Given the description of an element on the screen output the (x, y) to click on. 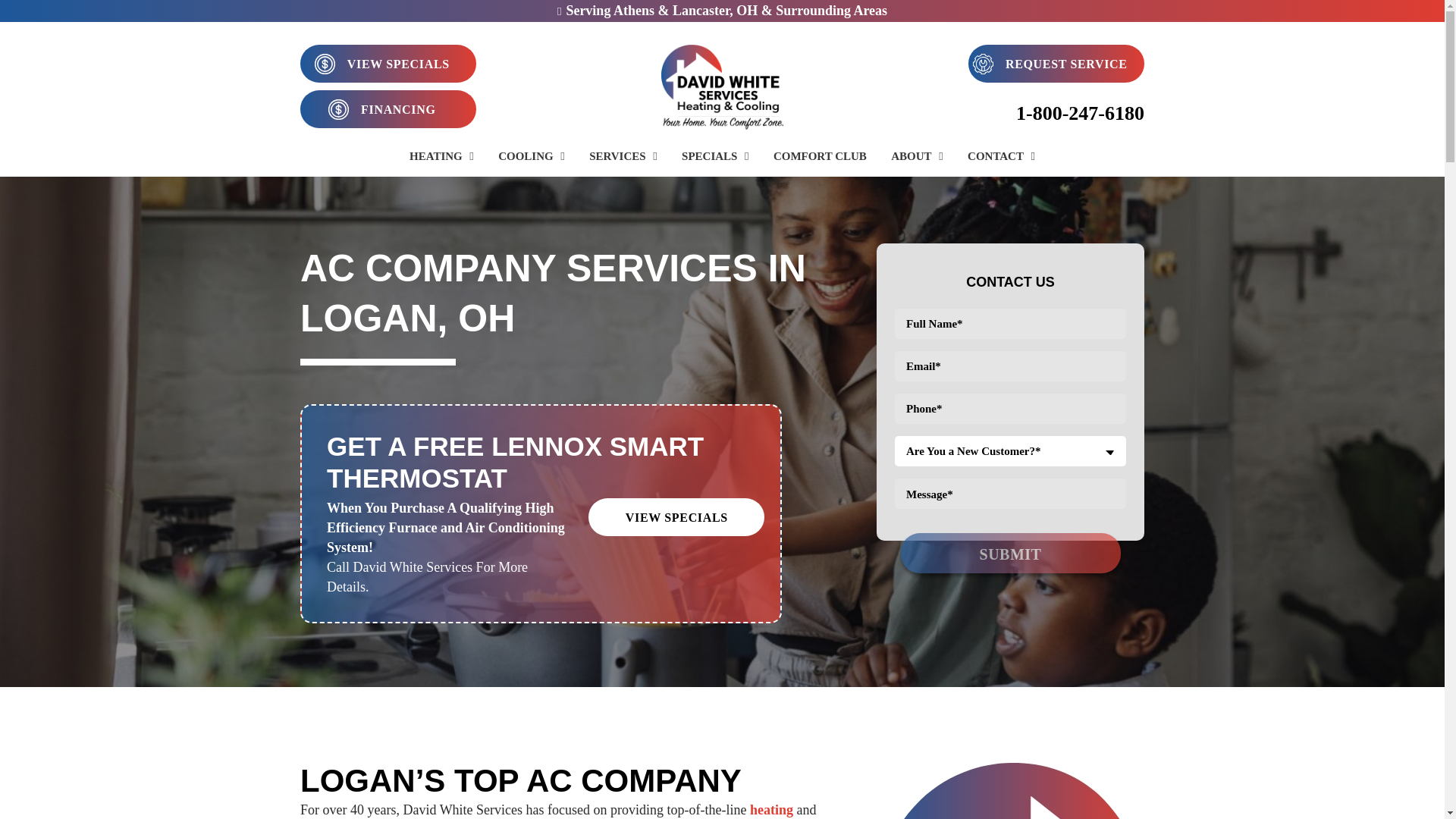
FINANCING (387, 108)
David White Services (722, 85)
Submit (1011, 552)
VIEW SPECIALS (387, 63)
